Given the description of an element on the screen output the (x, y) to click on. 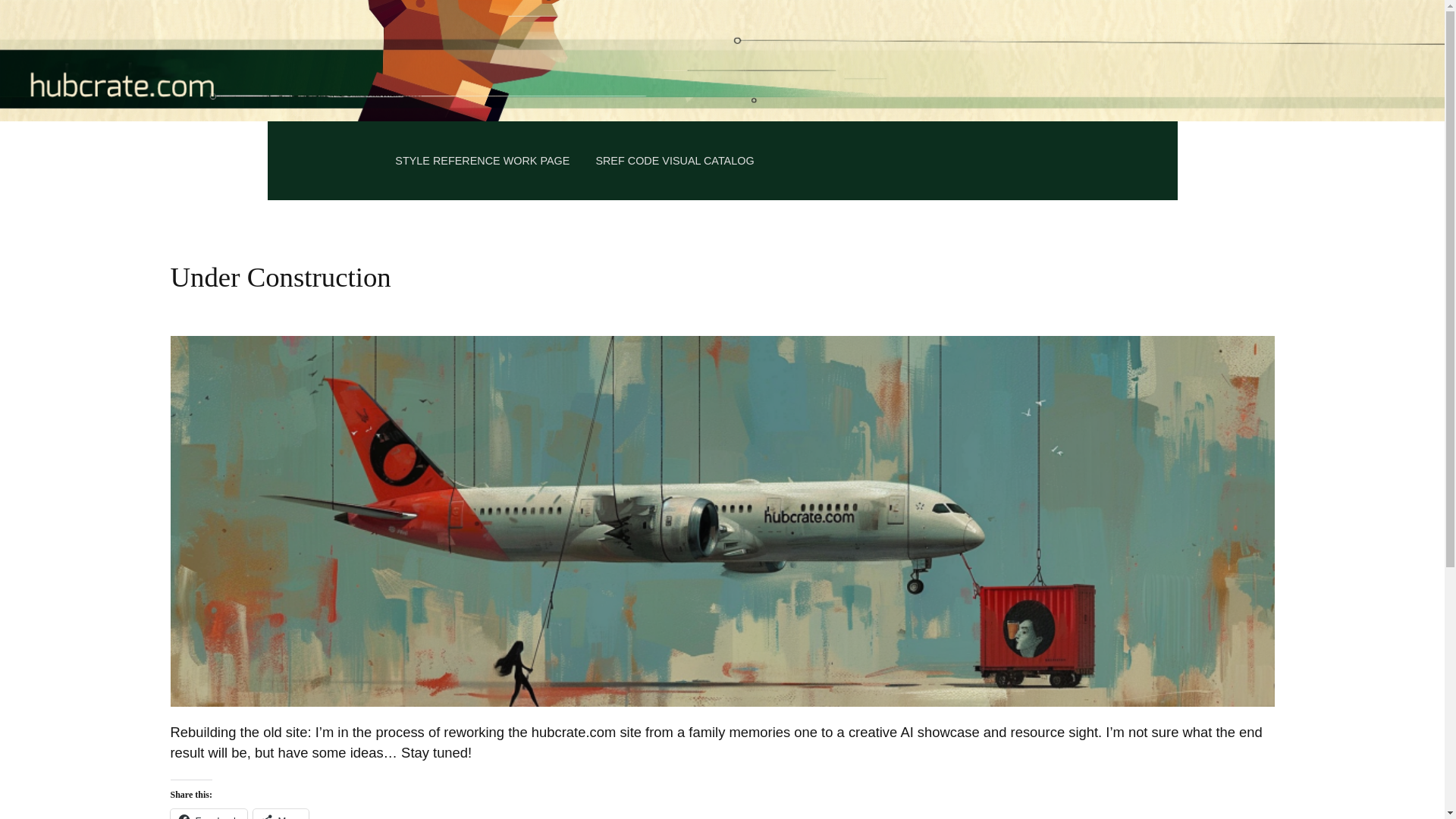
Facebook (208, 814)
SREF CODE VISUAL CATALOG (675, 160)
More (280, 814)
Click to share on Facebook (208, 814)
STYLE REFERENCE WORK PAGE (482, 160)
